Given the description of an element on the screen output the (x, y) to click on. 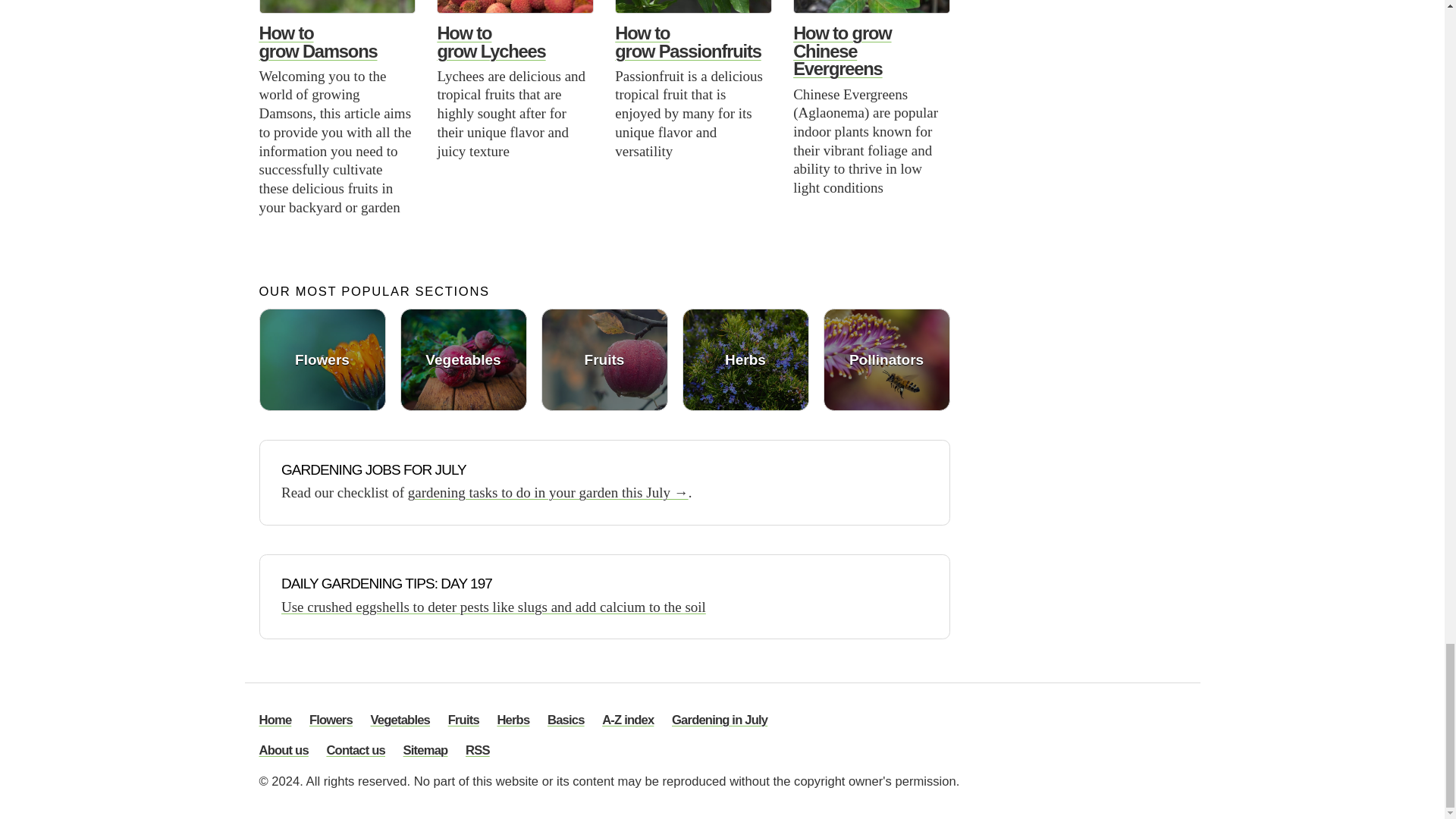
Vegetables (463, 359)
How to grow Chinese Evergreens (842, 50)
Pollinators (887, 359)
Flowers (322, 359)
How to grow Passionfruits (687, 41)
How to grow Lychees (490, 41)
Fruits (604, 359)
Herbs (745, 359)
How to grow Damsons (318, 41)
